Given the description of an element on the screen output the (x, y) to click on. 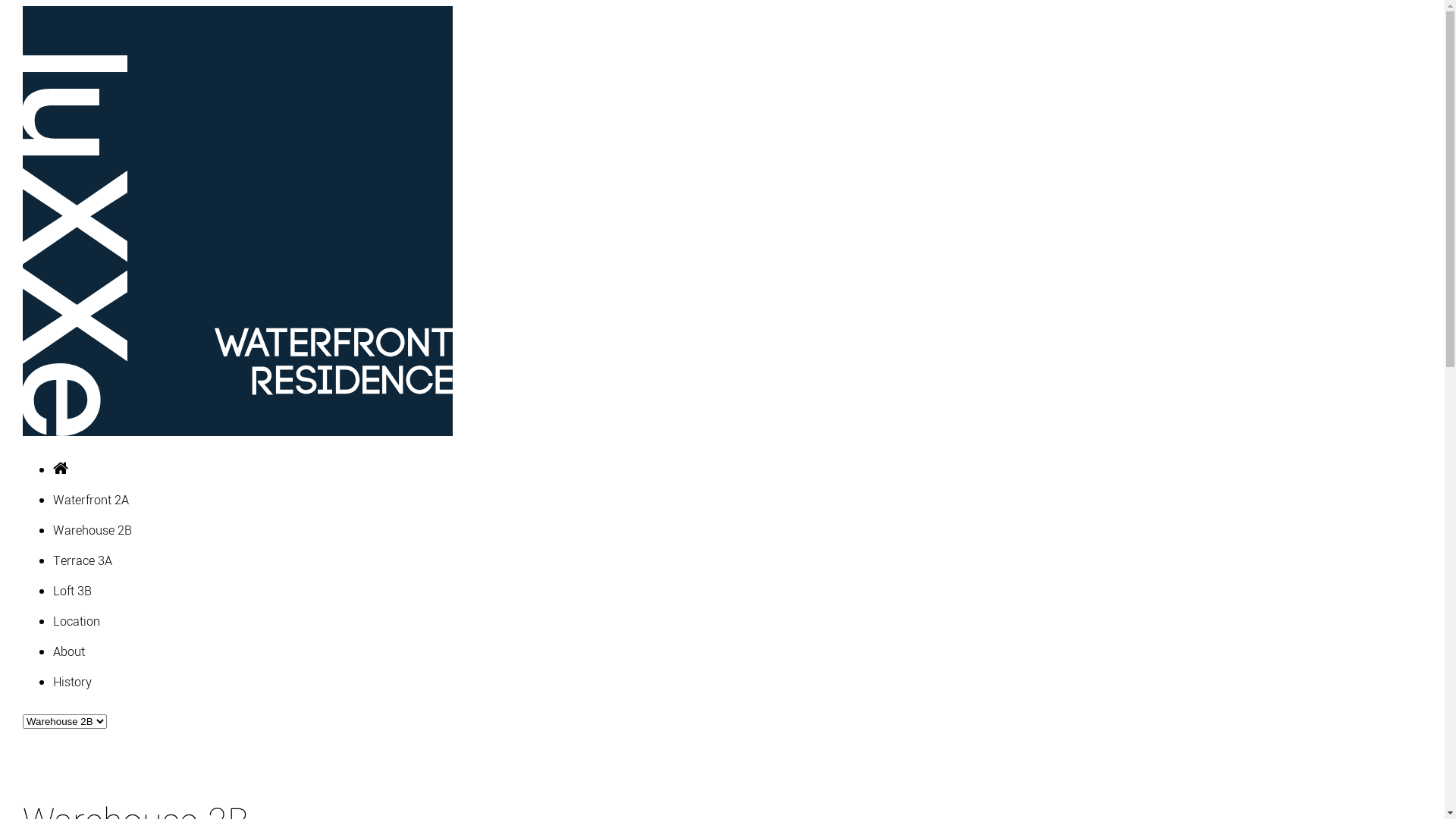
History Element type: text (72, 681)
Home Element type: text (60, 469)
Loft 3B Element type: text (72, 590)
Waterfront 2A Element type: text (90, 499)
Location Element type: text (76, 621)
Terrace 3A Element type: text (82, 560)
About Element type: text (68, 651)
Warehouse 2B Element type: text (92, 530)
